Given the description of an element on the screen output the (x, y) to click on. 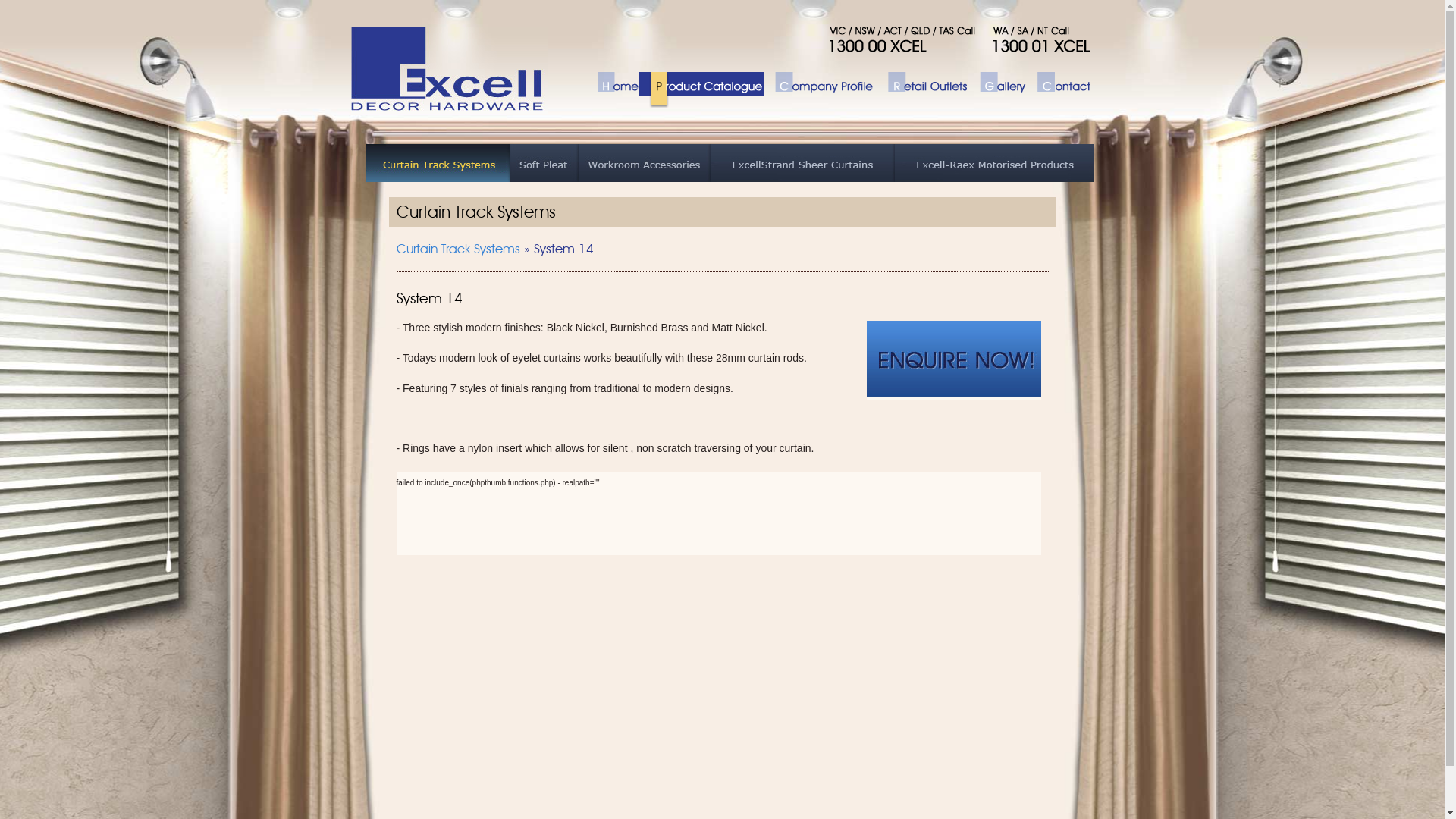
Workroom Accessories Element type: text (643, 163)
Strand Curtains Element type: text (801, 163)
Welcome to Excell Decor Element type: text (448, 69)
Gallery Element type: text (997, 92)
Curtain Track Systems Element type: text (457, 248)
Enquire about his product Element type: text (953, 358)
Contact Element type: text (1058, 92)
Product Catalogue Element type: text (700, 92)
Soft Pleat Element type: text (543, 163)
Company Profile Element type: text (820, 92)
Curtain Track Systems Element type: text (437, 163)
Home Element type: text (611, 92)
New Products Element type: text (994, 163)
Retail Outlets Element type: text (922, 92)
